Given the description of an element on the screen output the (x, y) to click on. 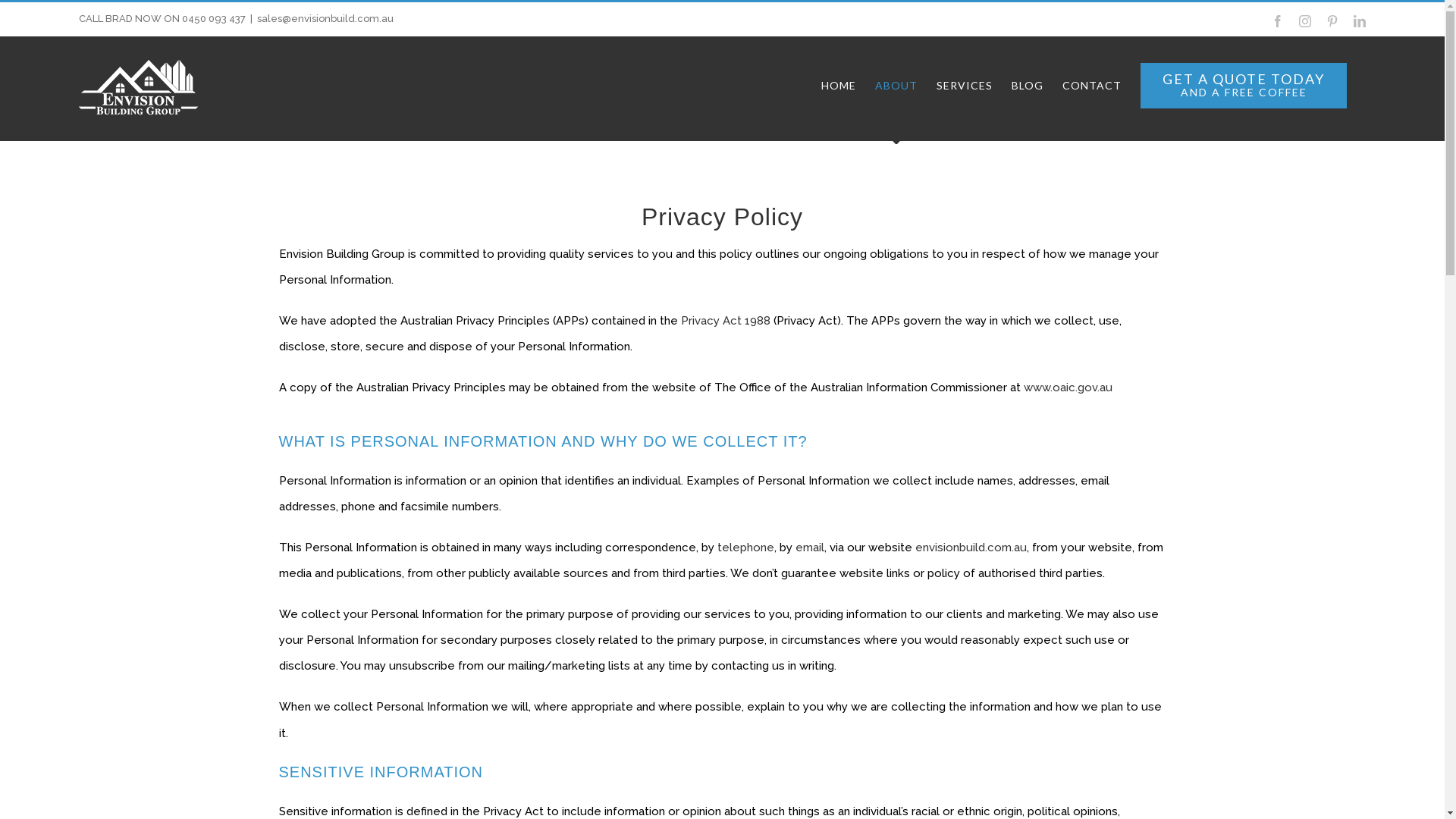
facebook Element type: text (1277, 21)
SERVICES Element type: text (964, 85)
CONTACT Element type: text (1091, 85)
pinterest Element type: text (1332, 21)
sales@envisionbuild.com.au Element type: text (325, 18)
linkedin Element type: text (1359, 21)
ABOUT Element type: text (896, 85)
Privacy Act 1988 Element type: text (725, 320)
envisionbuild.com.au Element type: text (970, 547)
email Element type: text (808, 547)
BLOG Element type: text (1027, 85)
instagram Element type: text (1305, 21)
www.oaic.gov.au Element type: text (1067, 387)
GET A QUOTE TODAY
AND A FREE COFFEE Element type: text (1243, 85)
telephone Element type: text (745, 547)
HOME Element type: text (838, 85)
